Given the description of an element on the screen output the (x, y) to click on. 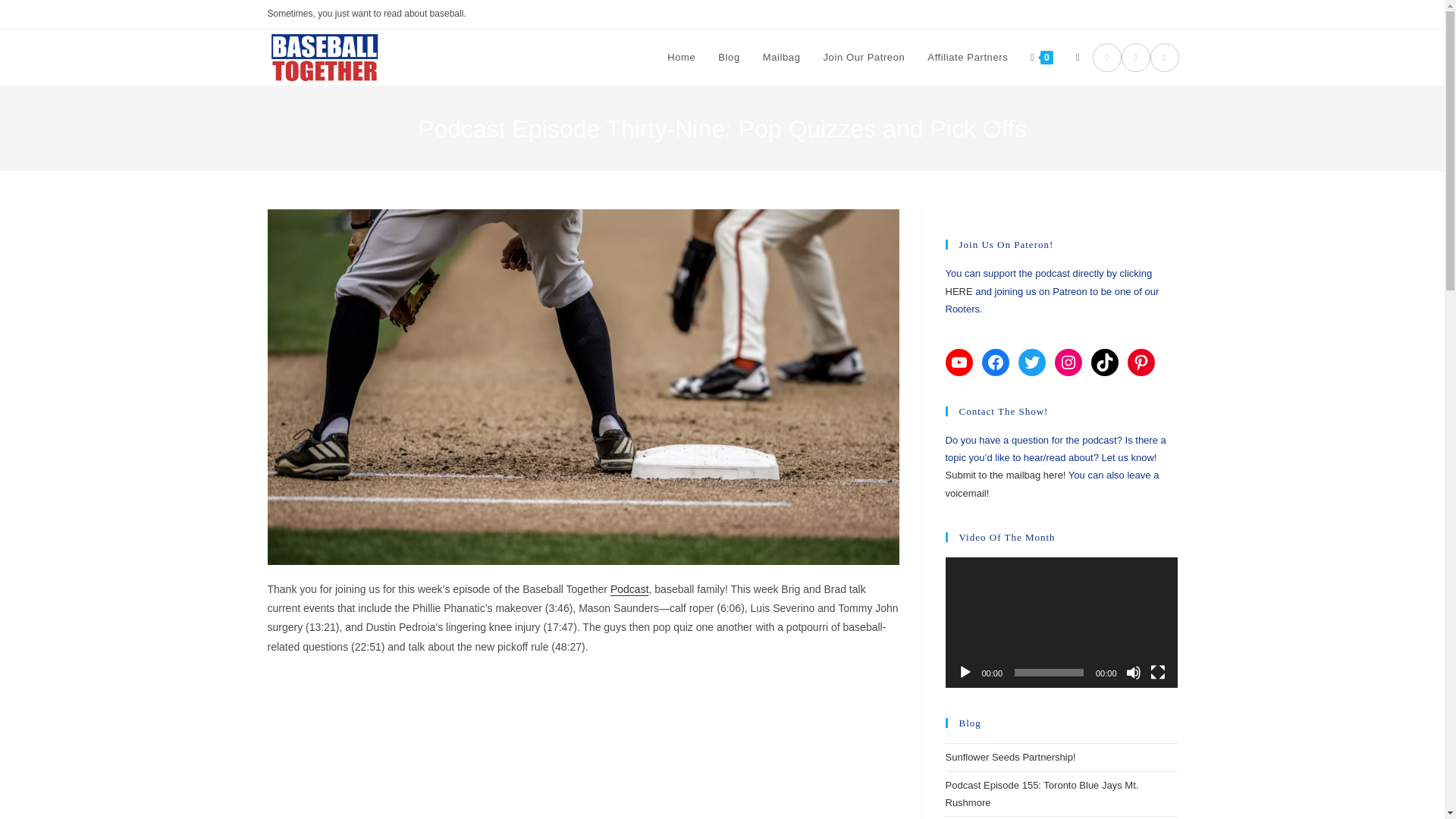
Fullscreen (1157, 672)
Podcast (629, 589)
Play (964, 672)
Join Our Patreon (862, 57)
Affiliate Partners (967, 57)
Mailbag (781, 57)
Home (681, 57)
Mute (1132, 672)
